Given the description of an element on the screen output the (x, y) to click on. 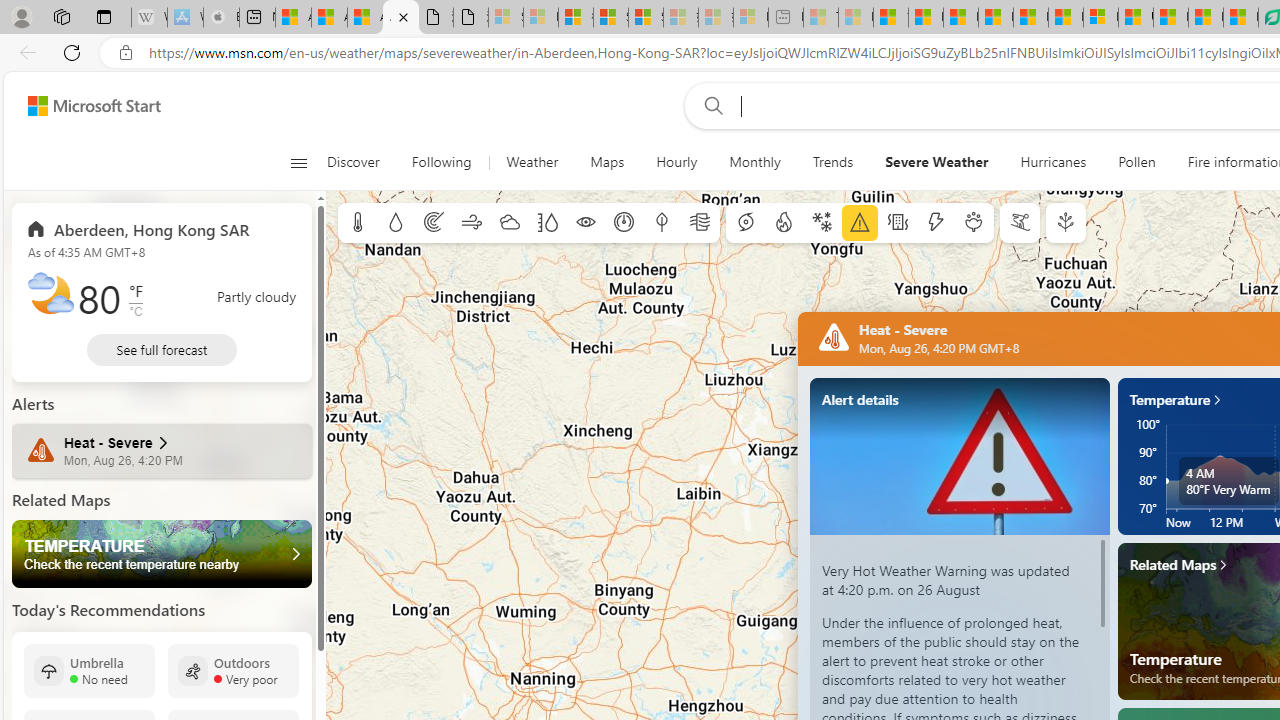
Radar (433, 223)
Maps (607, 162)
Monthly (754, 162)
Pollen (974, 223)
Heat - Severe Mon, Aug 26, 4:20 PM (161, 451)
Outdoors Very poor (233, 670)
US Heat Deaths Soared To Record High Last Year (1135, 17)
Hurricanes (1053, 162)
Top Stories - MSN - Sleeping (820, 17)
Monthly (754, 162)
Aberdeen, Hong Kong SAR (138, 228)
